Given the description of an element on the screen output the (x, y) to click on. 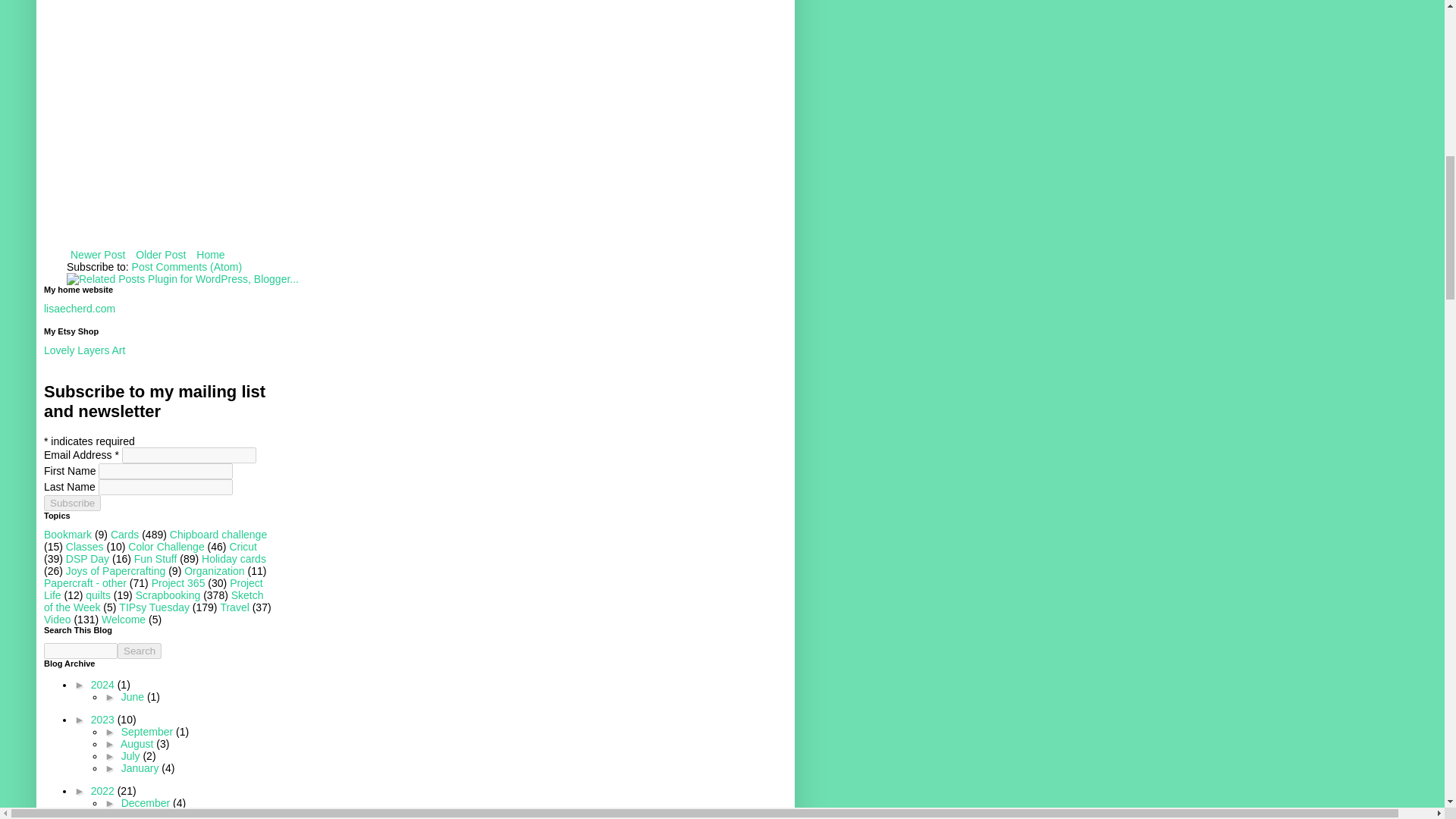
search (80, 650)
Search (139, 650)
Cards (124, 534)
Cricut (242, 546)
Older Post (160, 254)
Papercraft - other (84, 582)
Joys of Papercrafting (115, 571)
Fun Stuff (155, 558)
Older Post (160, 254)
DSP Day (87, 558)
Lovely Layers Art (84, 349)
Classes (84, 546)
Subscribe (71, 503)
Holiday cards (234, 558)
search (139, 650)
